Given the description of an element on the screen output the (x, y) to click on. 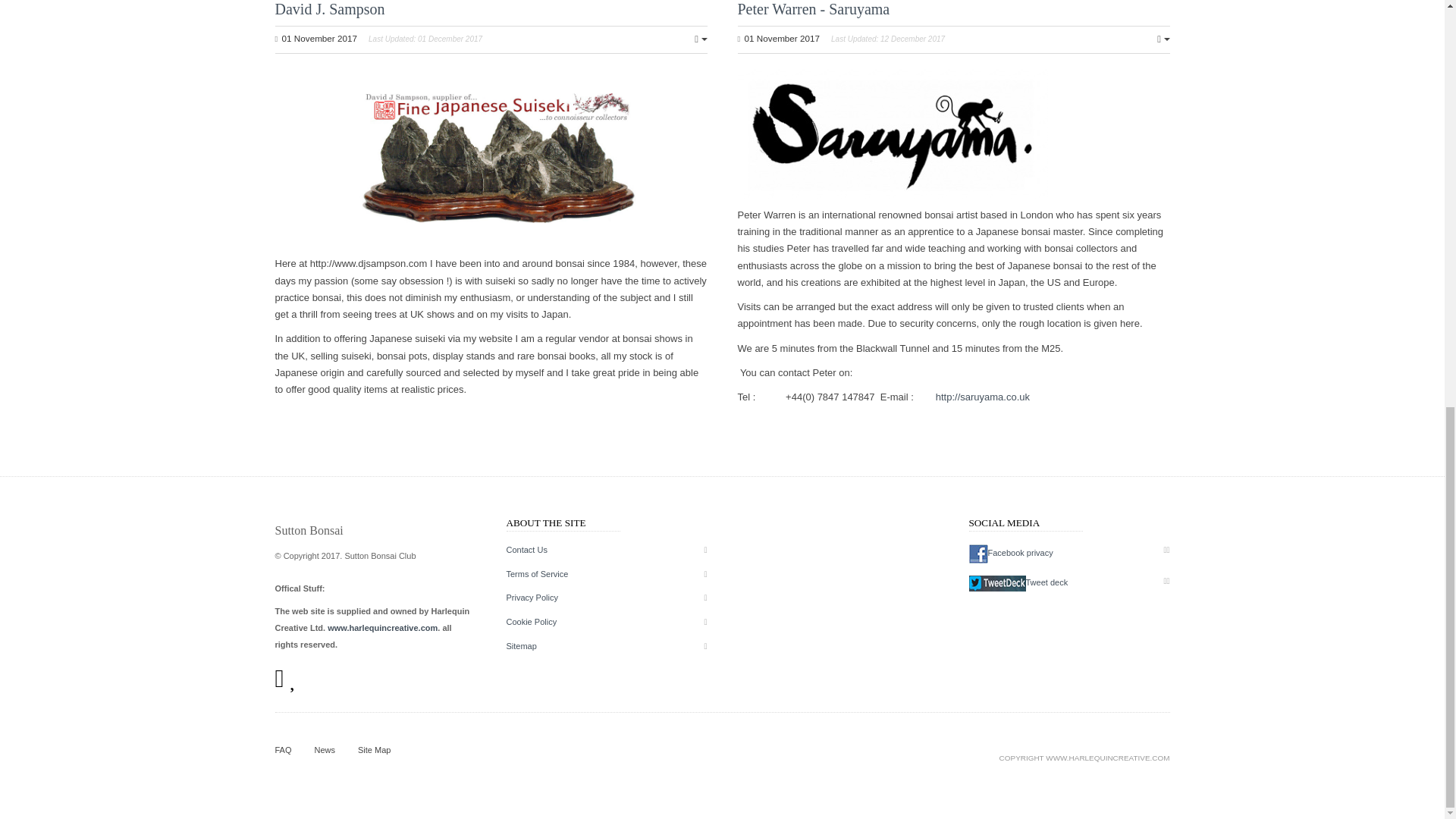
David J. Sampson (329, 8)
Peter Warren - Saruyama (812, 8)
David J. Sampson (329, 8)
